Given the description of an element on the screen output the (x, y) to click on. 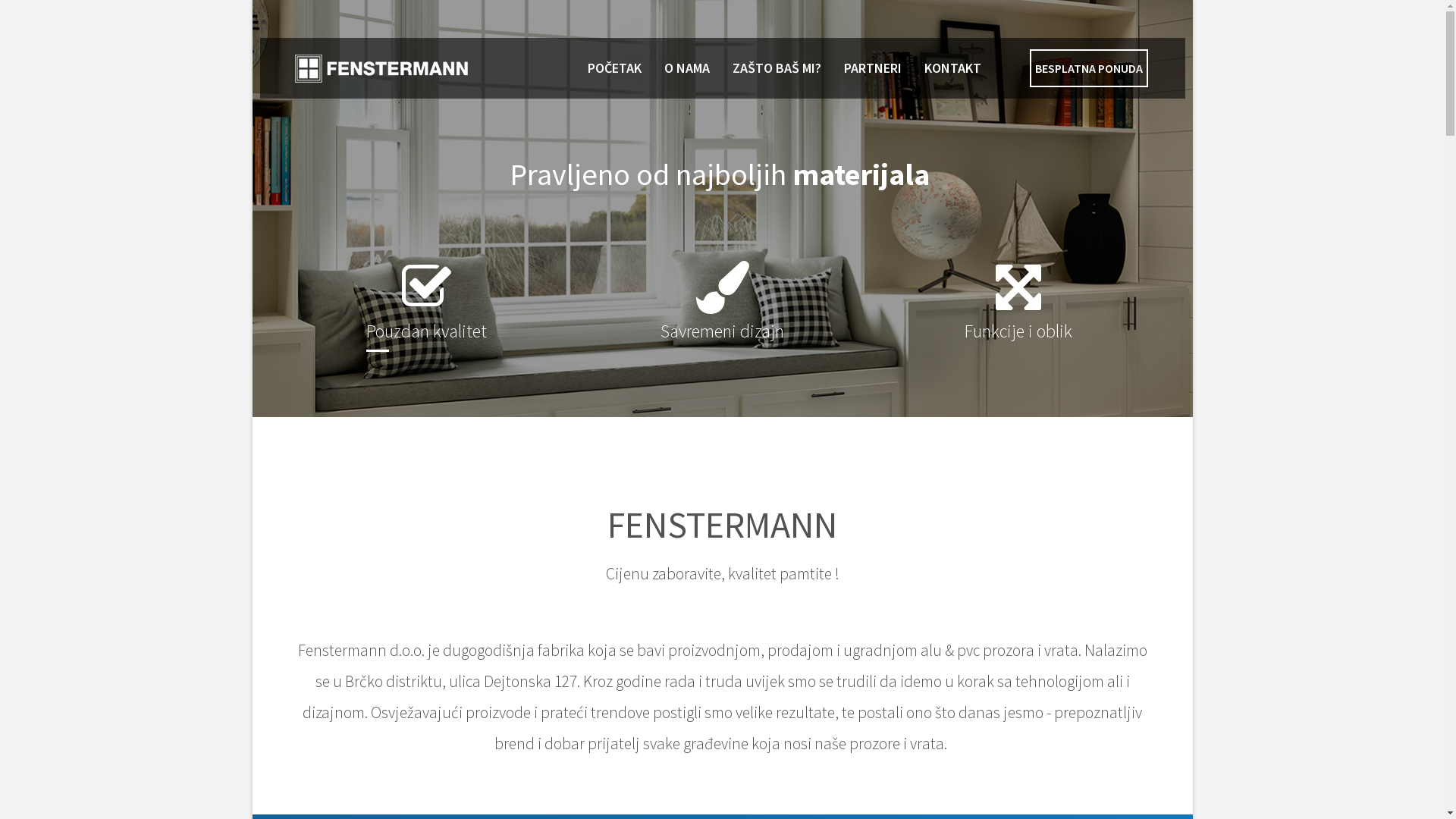
BESPLATNA PONUDA Element type: text (1088, 68)
KONTAKT Element type: text (952, 67)
O NAMA Element type: text (686, 67)
PARTNERI Element type: text (872, 67)
